Given the description of an element on the screen output the (x, y) to click on. 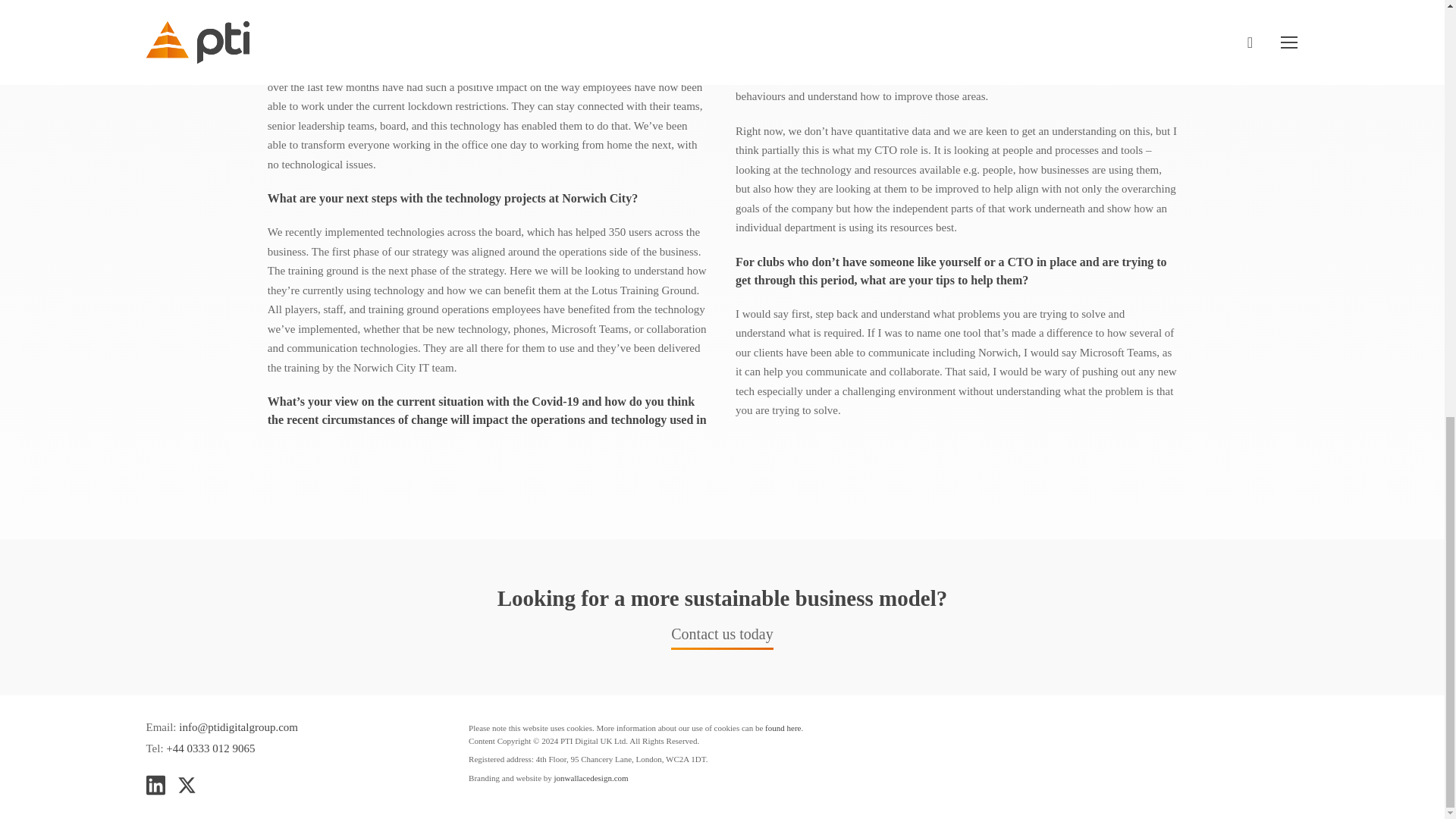
jonwallacedesign.com (591, 777)
More information about our use of cookies (782, 727)
found here (782, 727)
PTI on LinkedIn (154, 783)
Contact us today (722, 637)
Branding and website by jonwallacedesign.com (591, 777)
PTI on Twitter (186, 783)
